Given the description of an element on the screen output the (x, y) to click on. 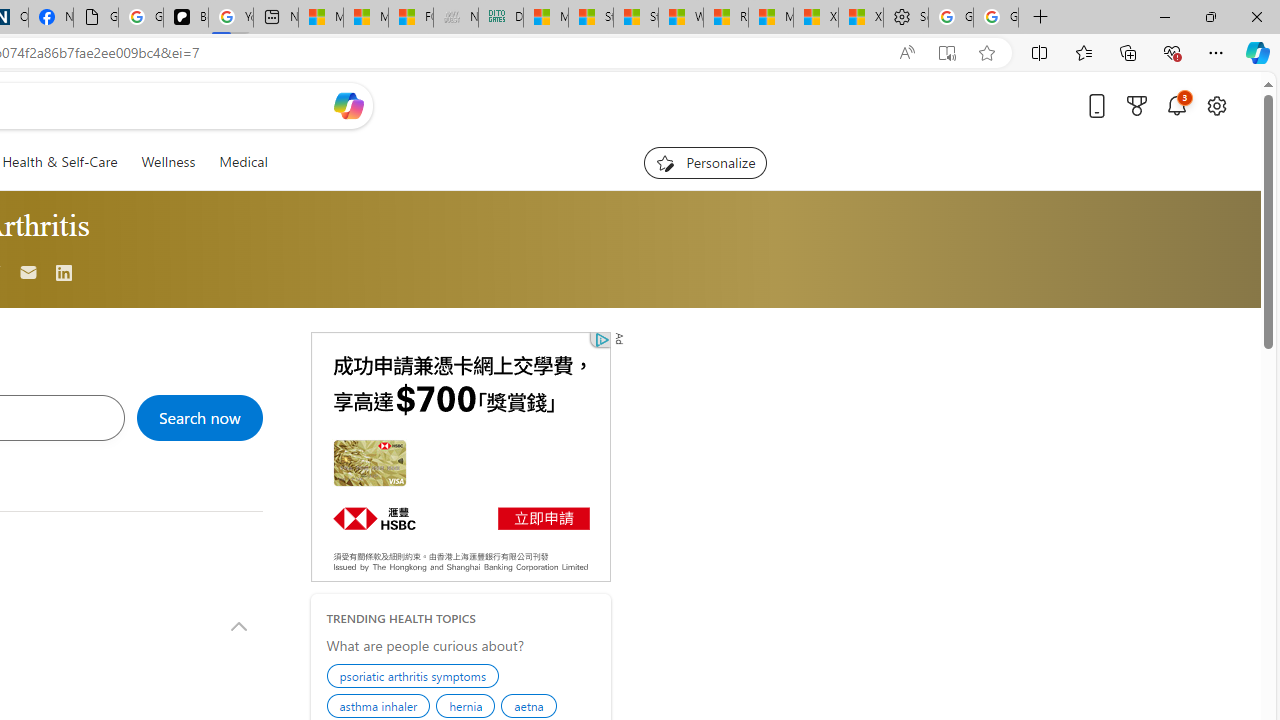
R******* | Trusted Community Engagement and Contributions (725, 17)
Search now (199, 417)
AutomationID: canvas (459, 456)
Wellness (168, 161)
Mail (29, 273)
Medical (243, 162)
Class: qc-adchoices-link top-right  (600, 339)
